Given the description of an element on the screen output the (x, y) to click on. 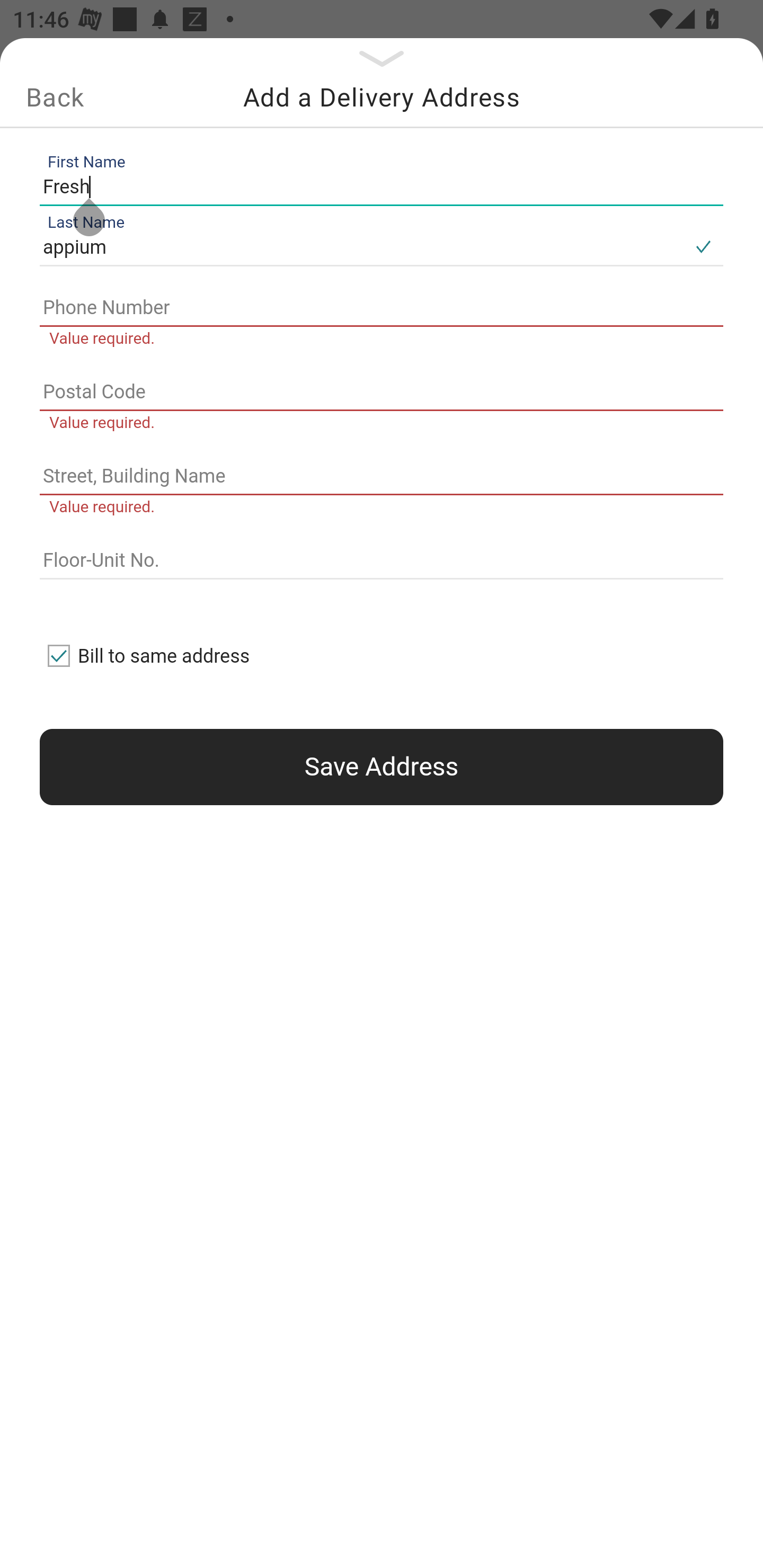
Back (54, 96)
Add a Delivery Address (381, 96)
Fresh (377, 186)
appium (361, 247)
Save Address (381, 767)
